Given the description of an element on the screen output the (x, y) to click on. 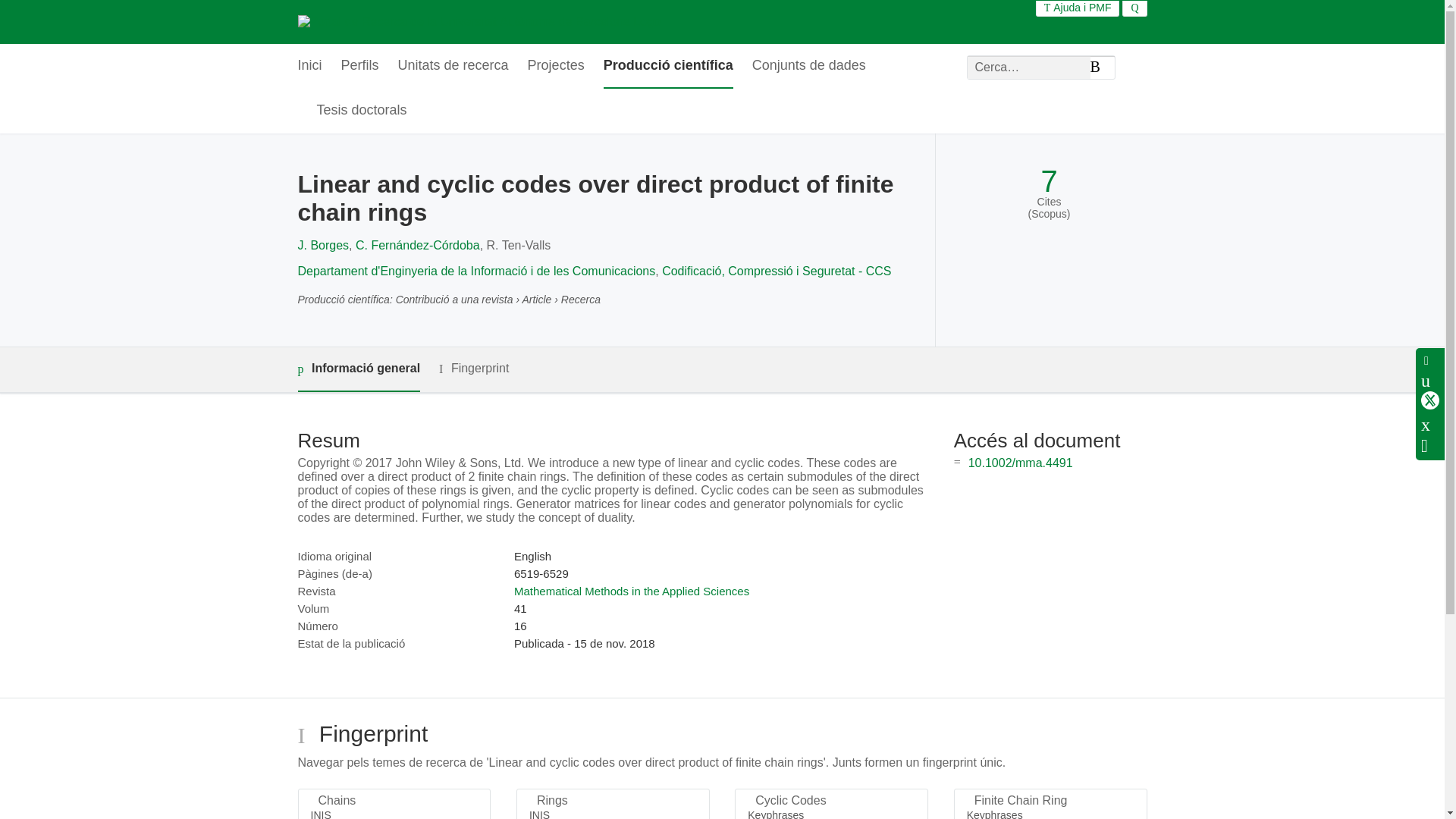
Ajuda i PMF (1077, 7)
Conjunts de dades (809, 66)
Unitats de recerca (452, 66)
Mathematical Methods in the Applied Sciences (631, 590)
Projectes (556, 66)
J. Borges (323, 245)
Fingerprint (473, 368)
Tesis doctorals (362, 110)
